Given the description of an element on the screen output the (x, y) to click on. 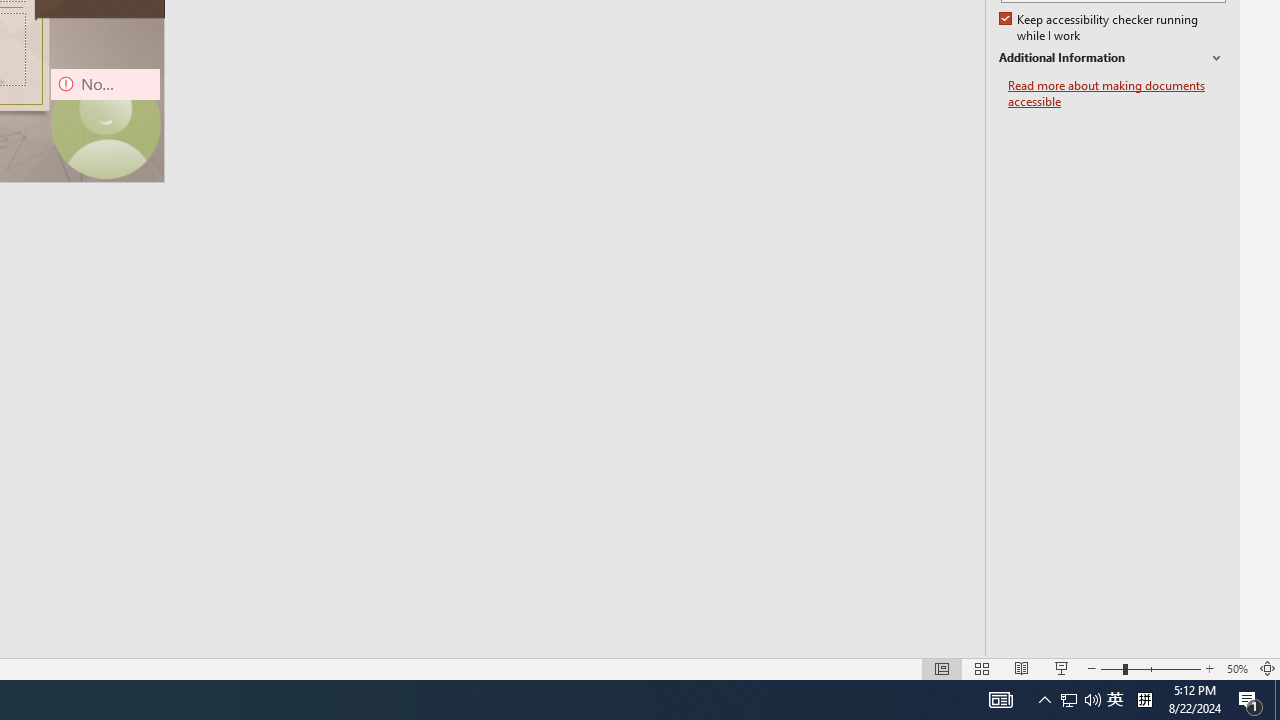
Zoom 50% (1236, 668)
